Given the description of an element on the screen output the (x, y) to click on. 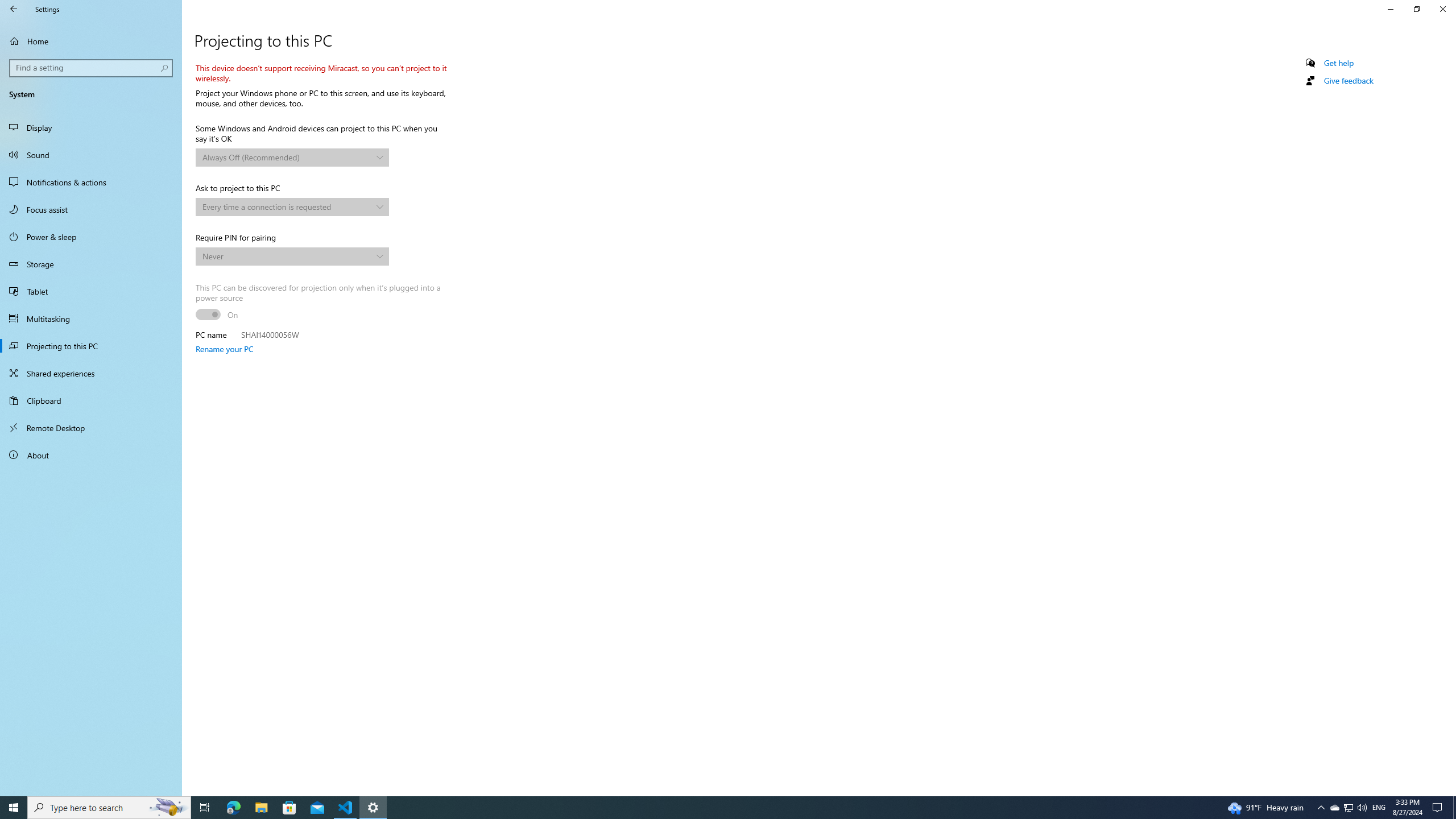
Storage (91, 263)
Shared experiences (91, 372)
Every time a connection is requested (286, 206)
Require PIN for pairing (291, 256)
Sound (91, 154)
Remote Desktop (91, 427)
